Given the description of an element on the screen output the (x, y) to click on. 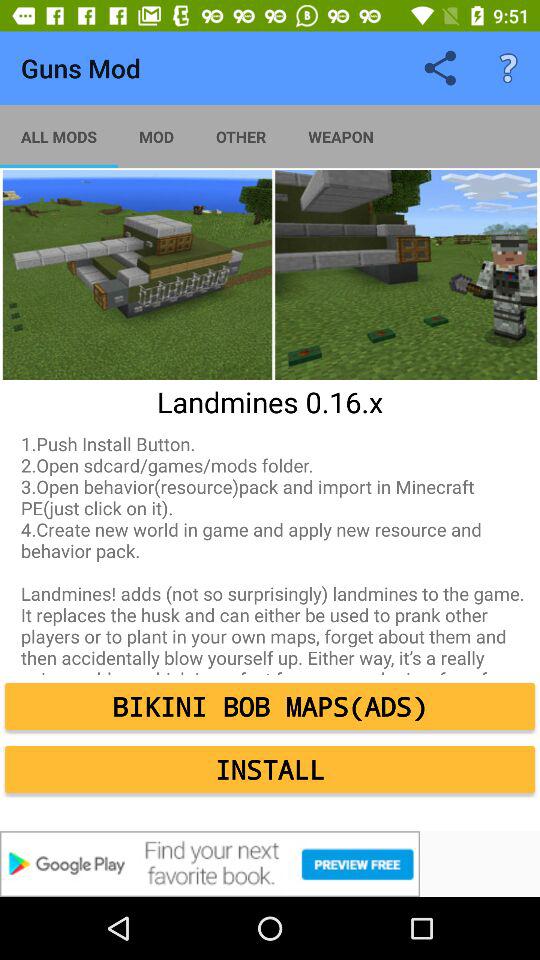
external advertisement (270, 864)
